Given the description of an element on the screen output the (x, y) to click on. 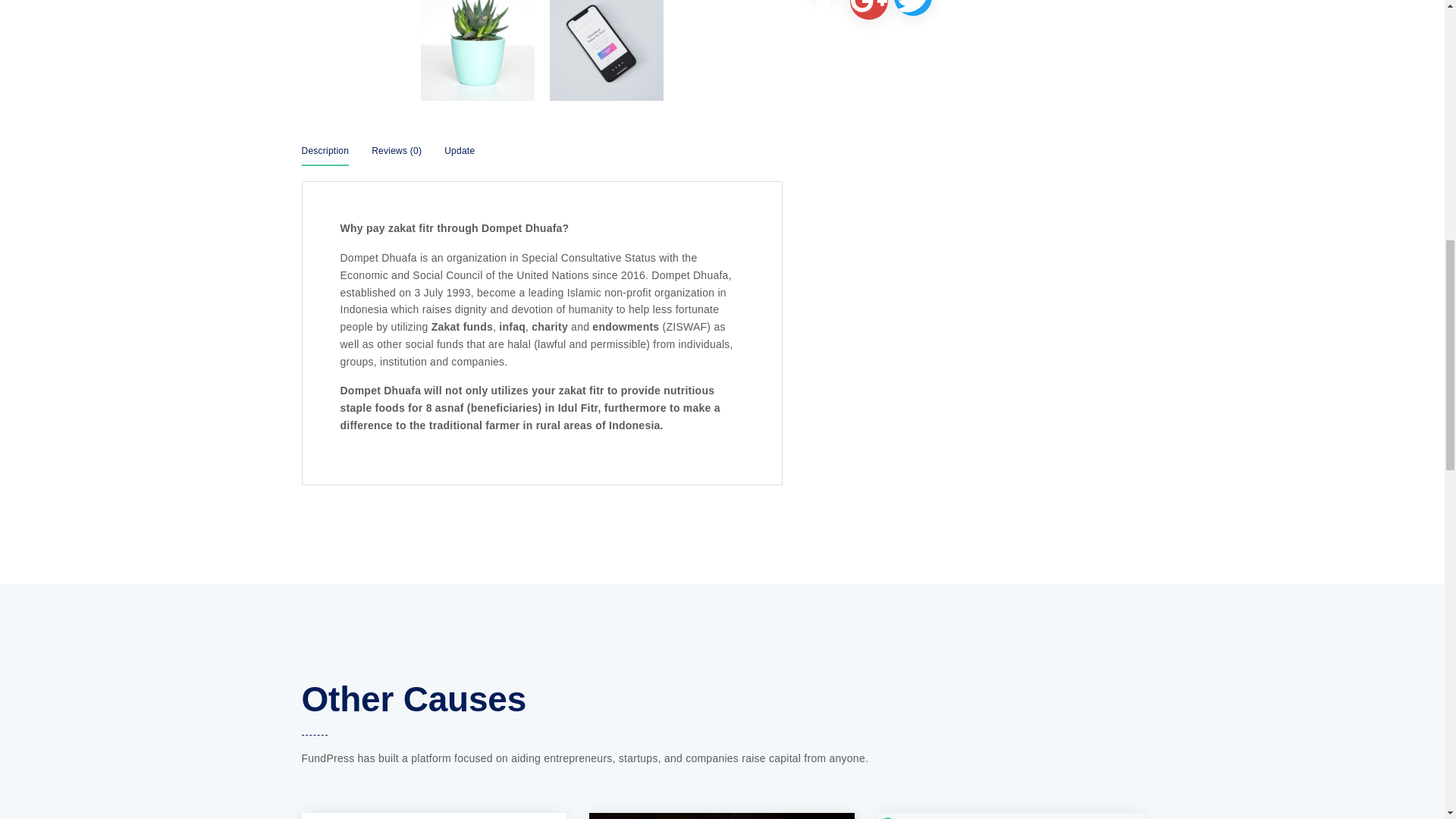
Description (325, 155)
Update (459, 155)
